Given the description of an element on the screen output the (x, y) to click on. 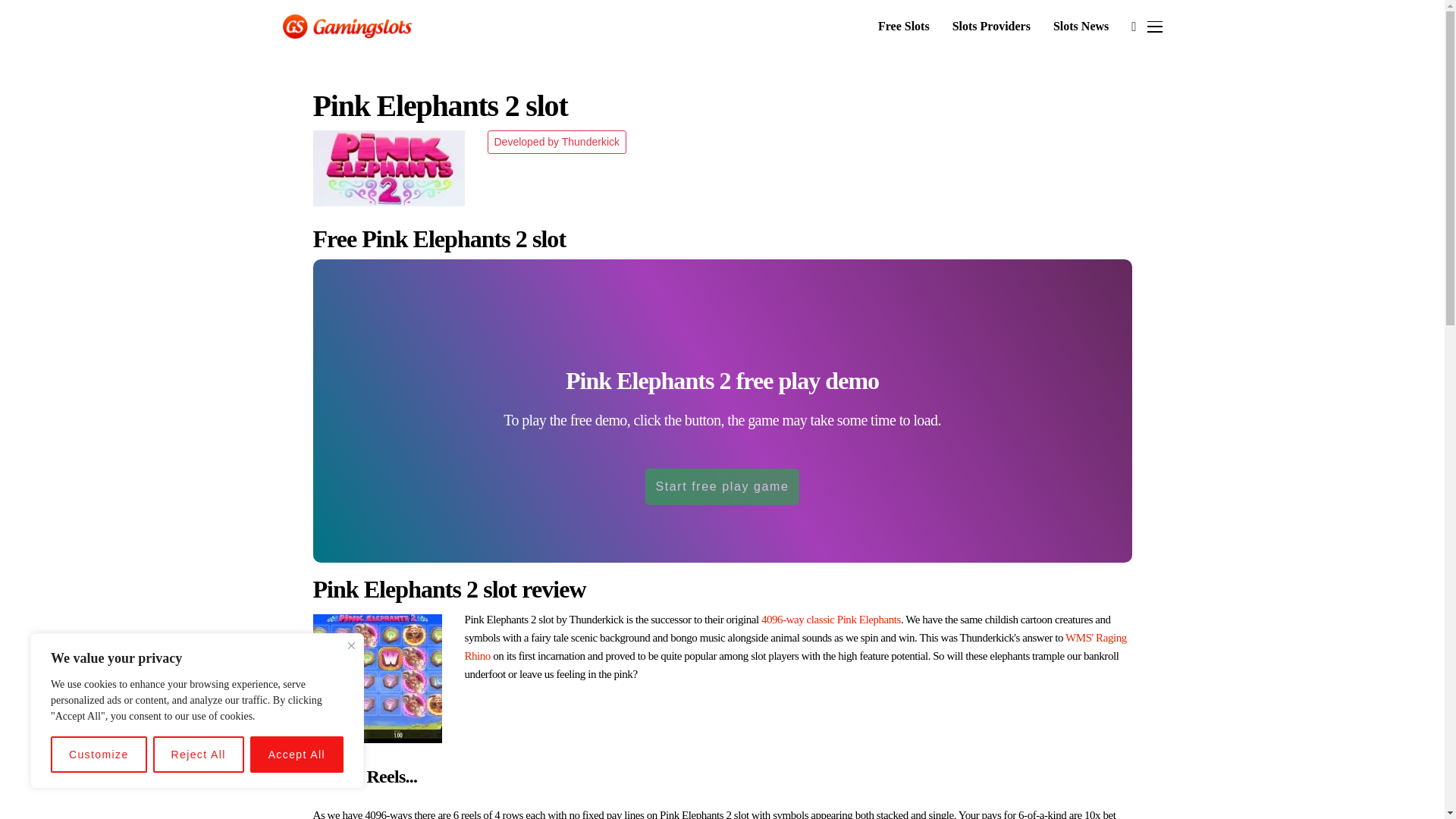
4096-way classic Pink Elephants (831, 619)
Free Slots (903, 26)
Slots News (1080, 26)
Slots Providers (991, 26)
Accept All (296, 754)
Developed by Thunderkick (556, 141)
Start free play game (721, 486)
WMS' Raging Rhino (794, 646)
Customize (98, 754)
Reject All (198, 754)
